Given the description of an element on the screen output the (x, y) to click on. 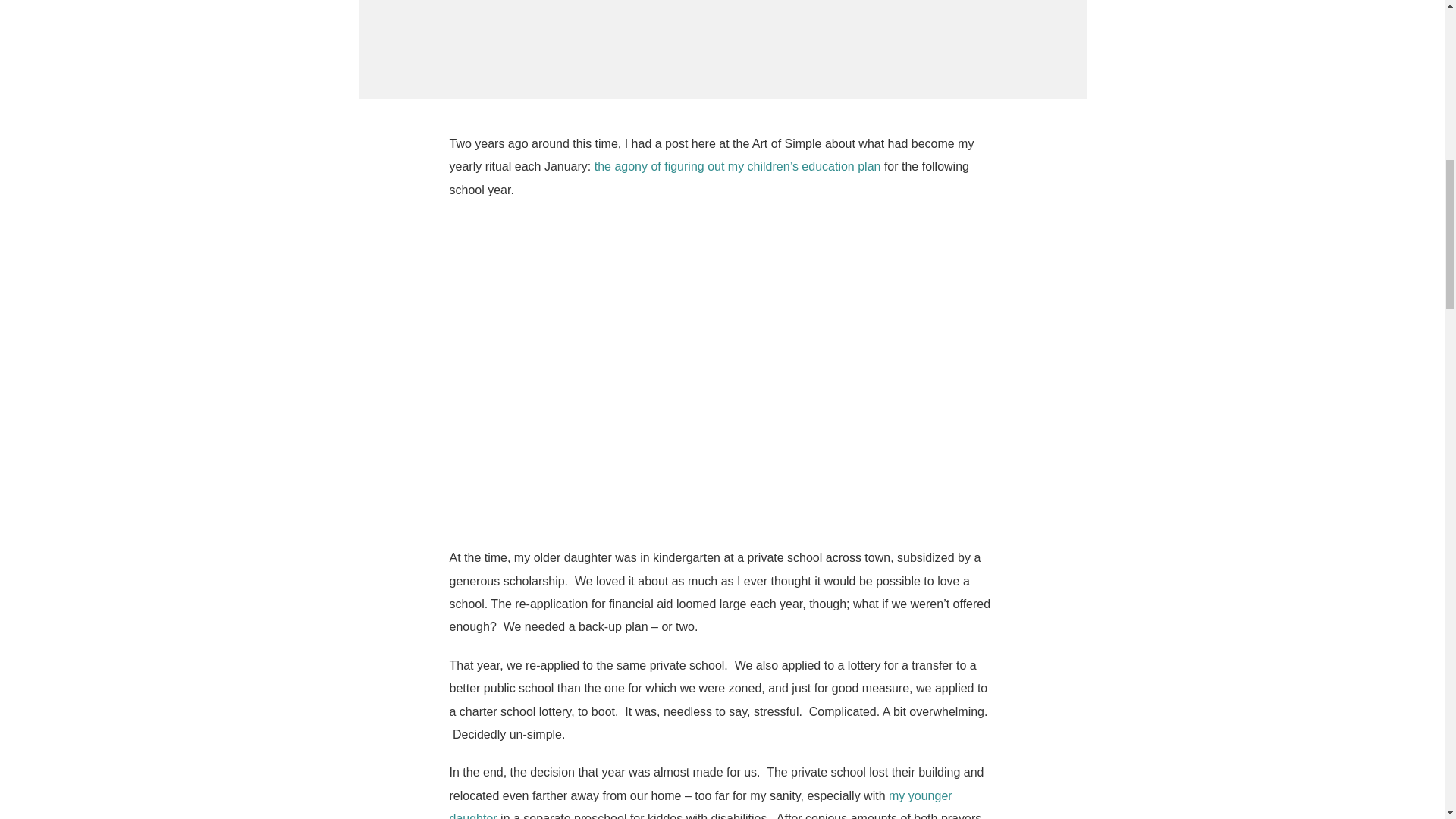
my younger daughter (700, 804)
